Given the description of an element on the screen output the (x, y) to click on. 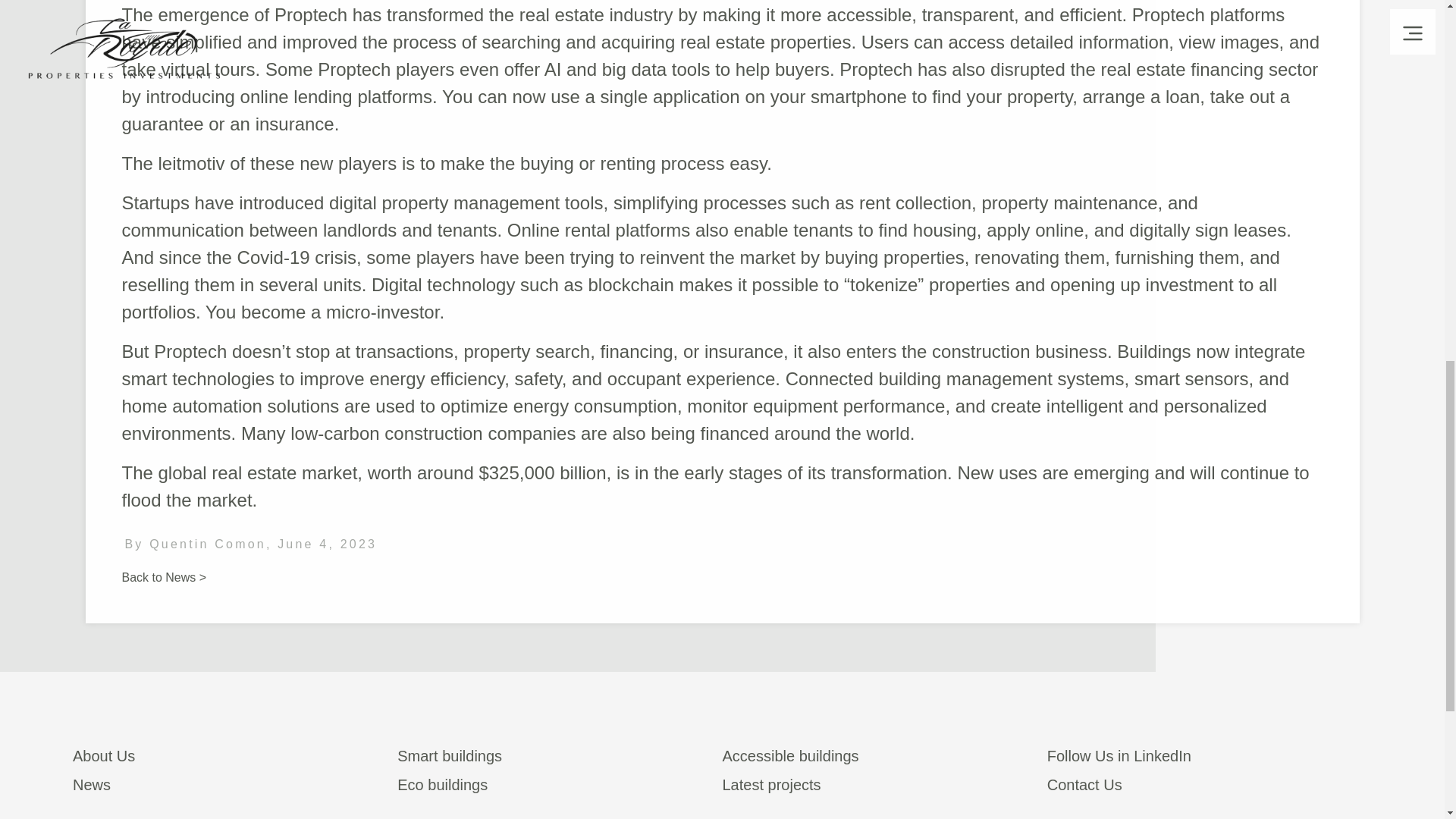
Accessible buildings (884, 758)
Smart buildings (559, 758)
Follow Us in LinkedIn (1208, 758)
Eco buildings (559, 787)
Latest projects (884, 787)
About Us (234, 758)
Contact Us (1208, 787)
News (234, 787)
